Given the description of an element on the screen output the (x, y) to click on. 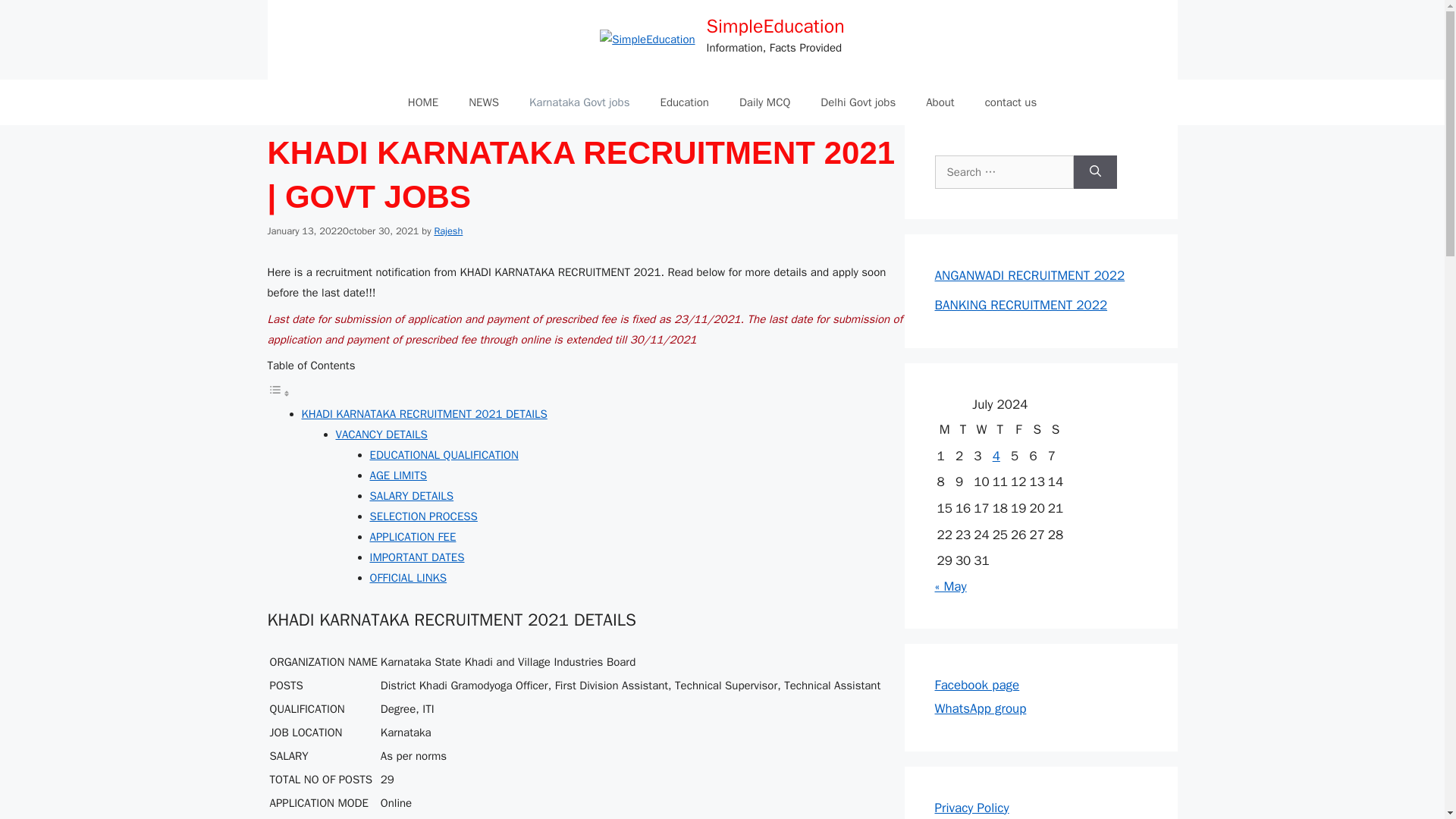
APPLICATION FEE (413, 536)
View all posts by Rajesh (448, 231)
AGE LIMITS (398, 475)
OFFICIAL LINKS (407, 577)
IMPORTANT DATES (416, 557)
AGE LIMITS (398, 475)
EDUCATIONAL QUALIFICATION (443, 454)
SALARY DETAILS (411, 495)
Karnataka Govt jobs (579, 101)
BANKING RECRUITMENT 2022 (1020, 304)
Monday (944, 430)
Education (684, 101)
APPLICATION FEE (413, 536)
About (940, 101)
SALARY DETAILS (411, 495)
